Given the description of an element on the screen output the (x, y) to click on. 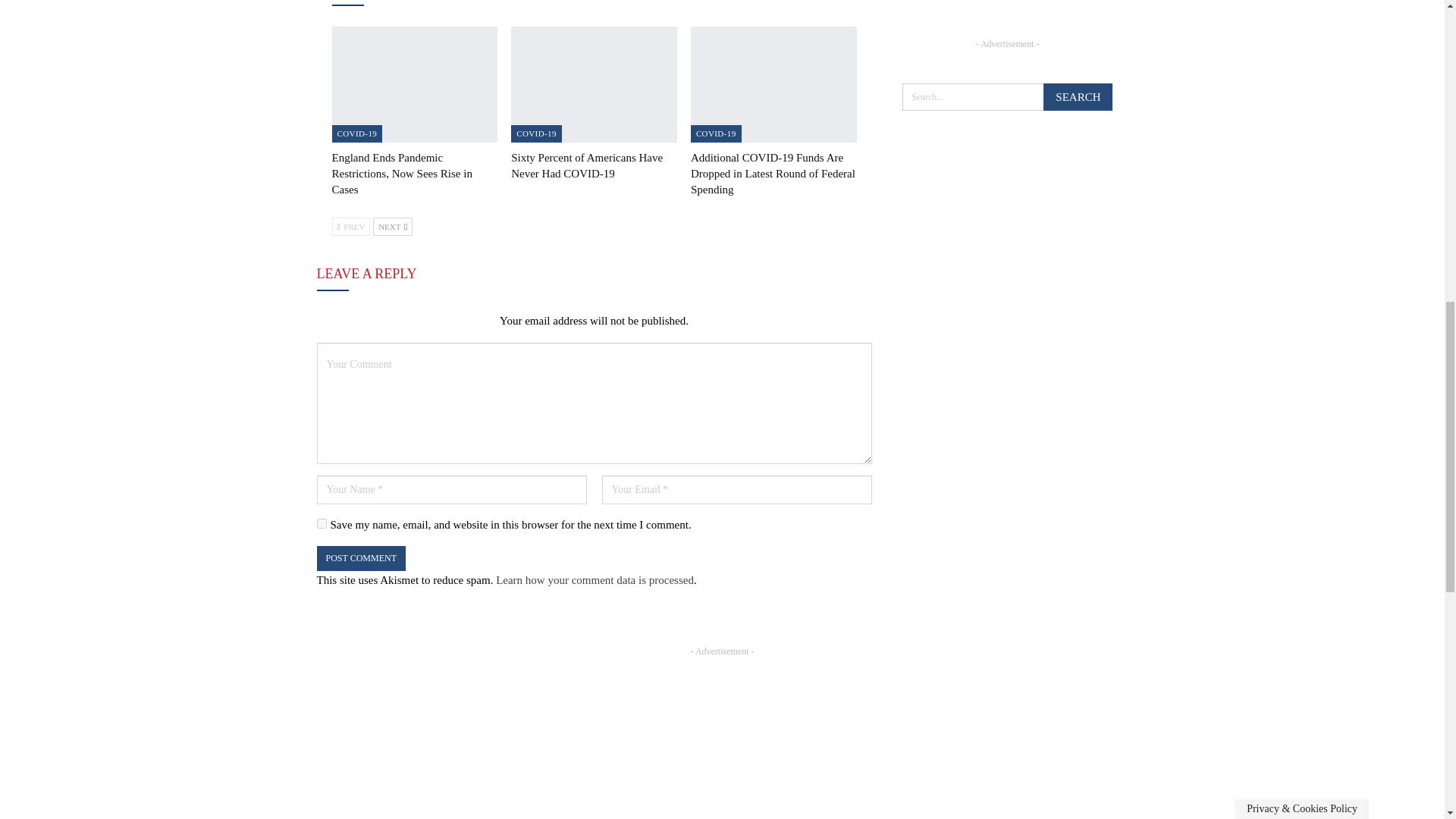
England Ends Pandemic Restrictions, Now Sees Rise in Cases (401, 173)
yes (321, 523)
Search (1077, 96)
Post Comment (361, 558)
England Ends Pandemic Restrictions, Now Sees Rise in Cases (414, 84)
Search (1077, 96)
